Given the description of an element on the screen output the (x, y) to click on. 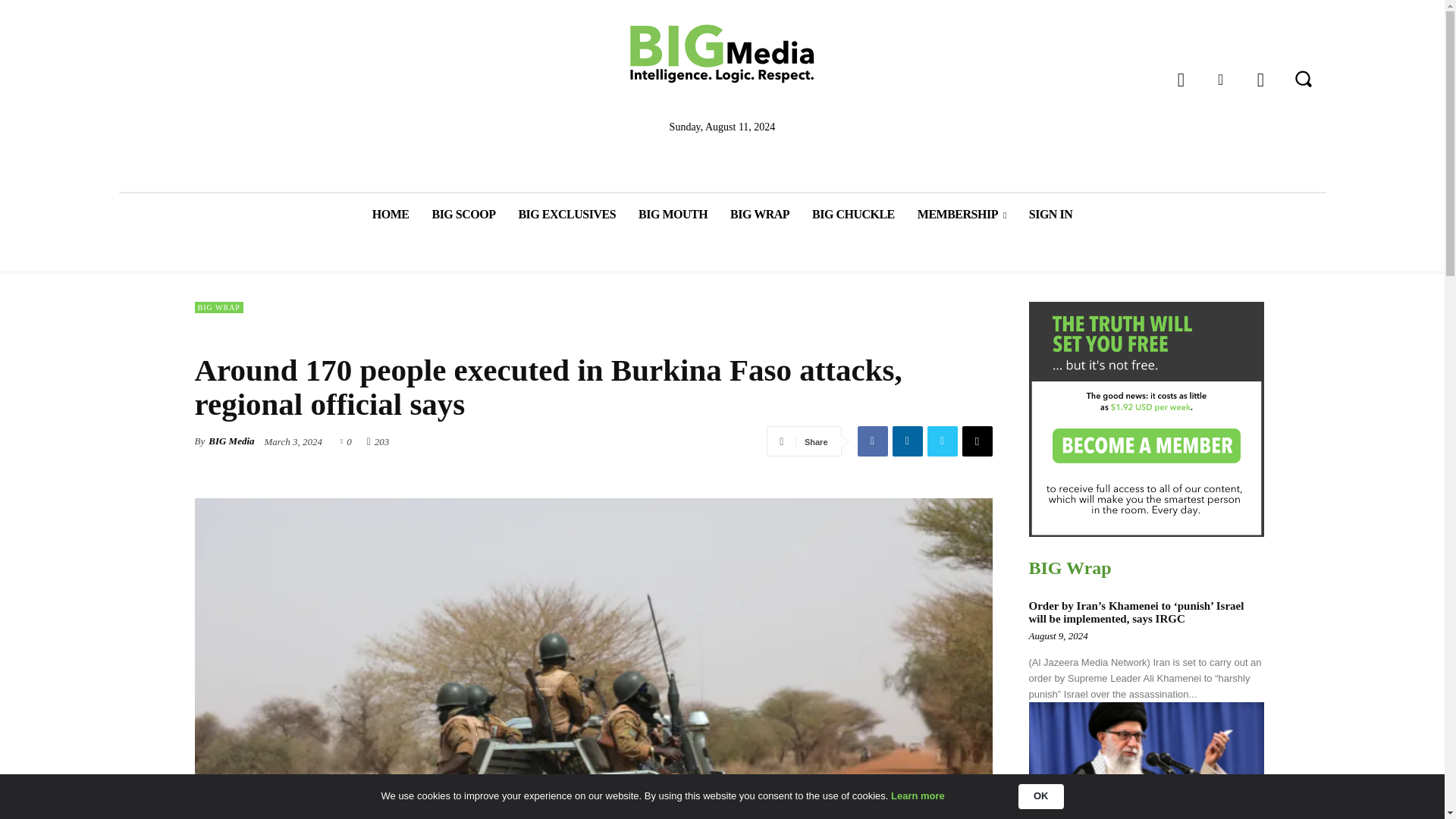
MEMBERSHIP (961, 214)
Facebook (871, 440)
Linkedin (1220, 79)
BIG MOUTH (673, 214)
Facebook (1180, 79)
Twitter (1260, 79)
BIG WRAP (759, 214)
BIG SCOOP (463, 214)
BIG CHUCKLE (852, 214)
SIGN IN (1050, 214)
